Given the description of an element on the screen output the (x, y) to click on. 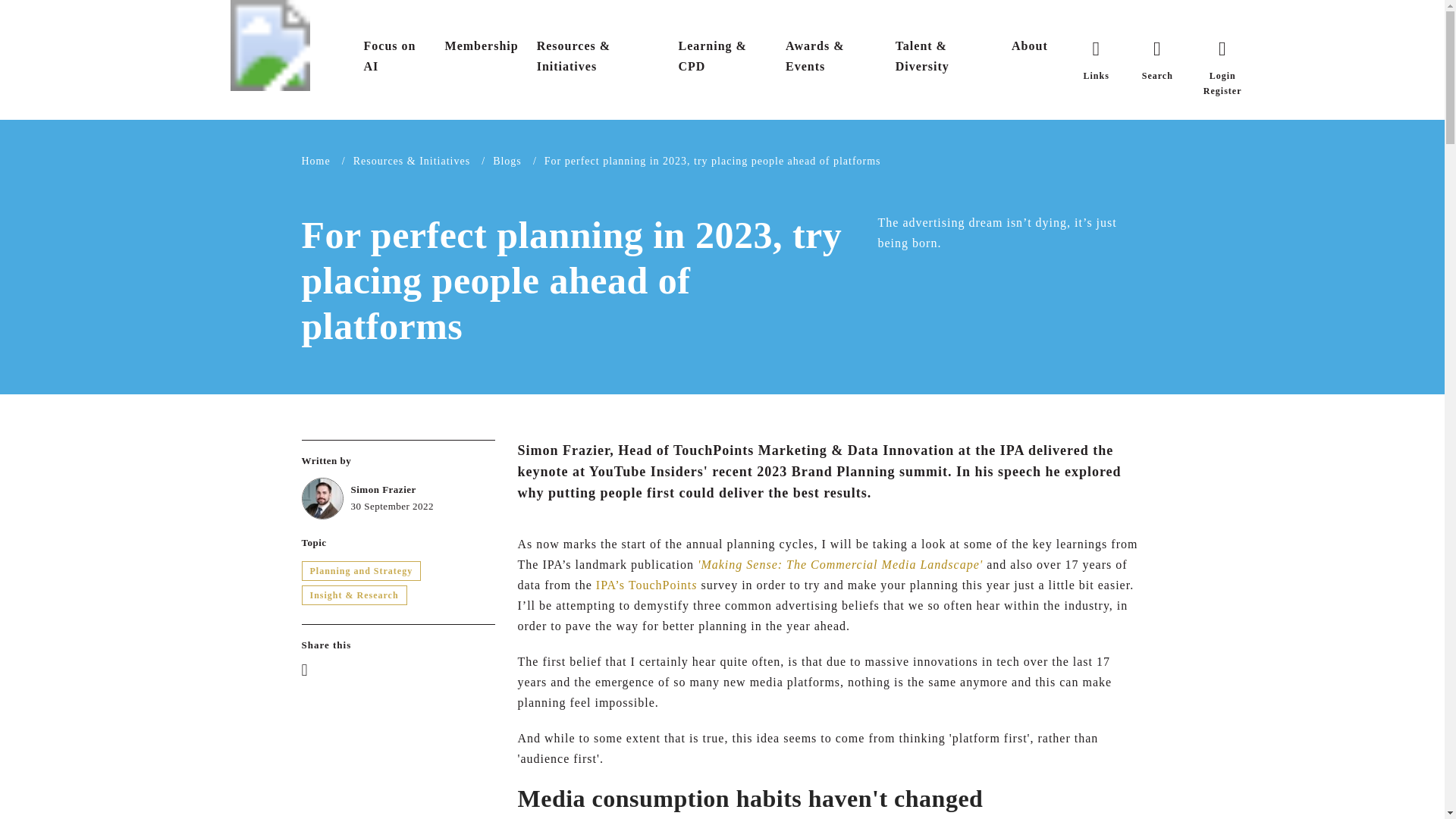
IPA Incorporated by Royal Charter (269, 43)
Making sense the commercial media landscape 2022 (839, 563)
IPA Incorporated by Royal Charter (269, 45)
